Given the description of an element on the screen output the (x, y) to click on. 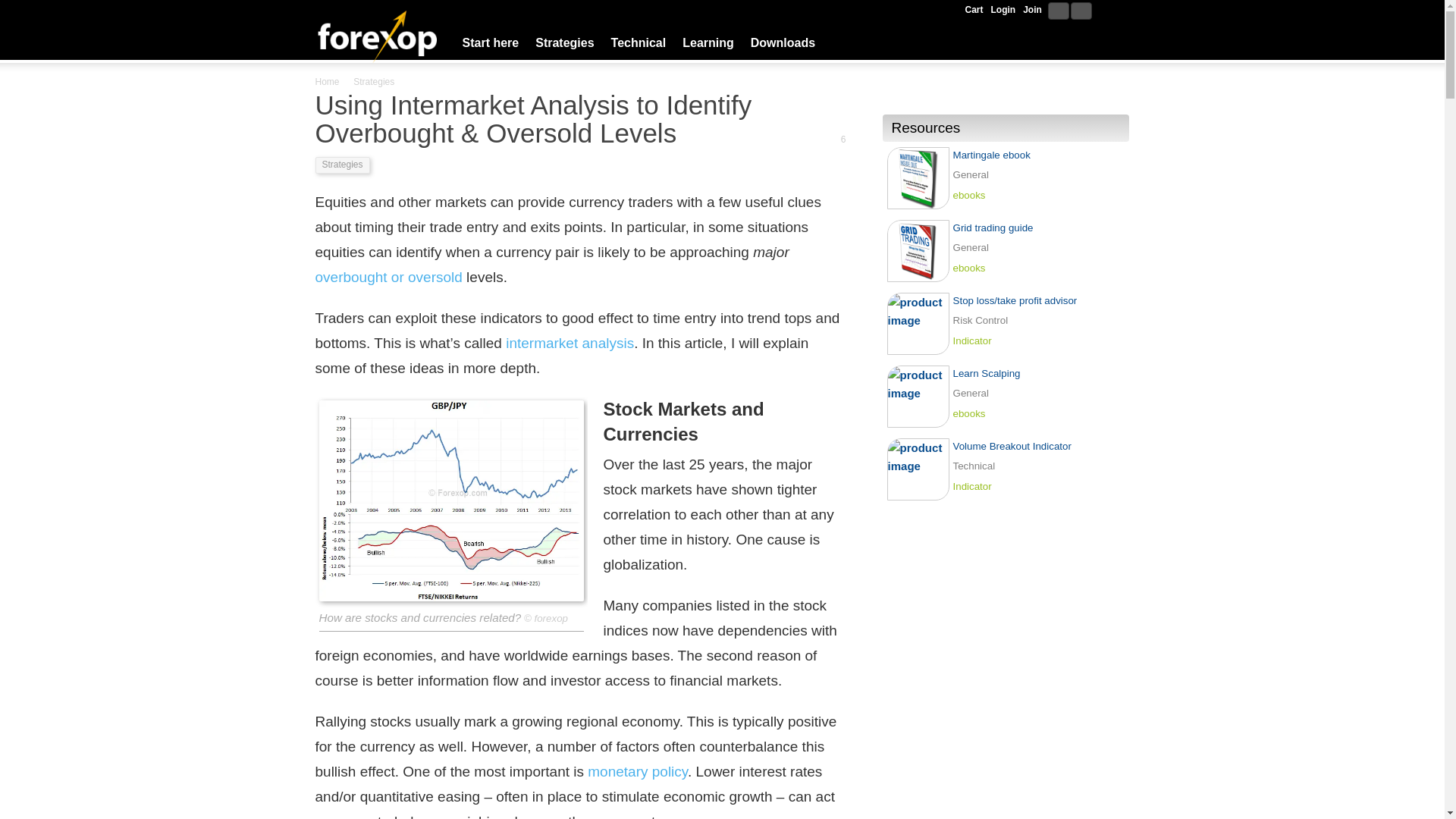
Strategies (373, 81)
Start here (489, 43)
Learning (708, 43)
Cart (973, 9)
intermarket analysis (569, 342)
overbought or oversold (389, 277)
Strategies (342, 165)
Downloads (783, 43)
What Do Central Banks Do? (637, 771)
Join (1032, 9)
Home (327, 81)
View all posts in Strategies (373, 81)
Technical (638, 43)
Start here (489, 43)
forexop (550, 618)
